Given the description of an element on the screen output the (x, y) to click on. 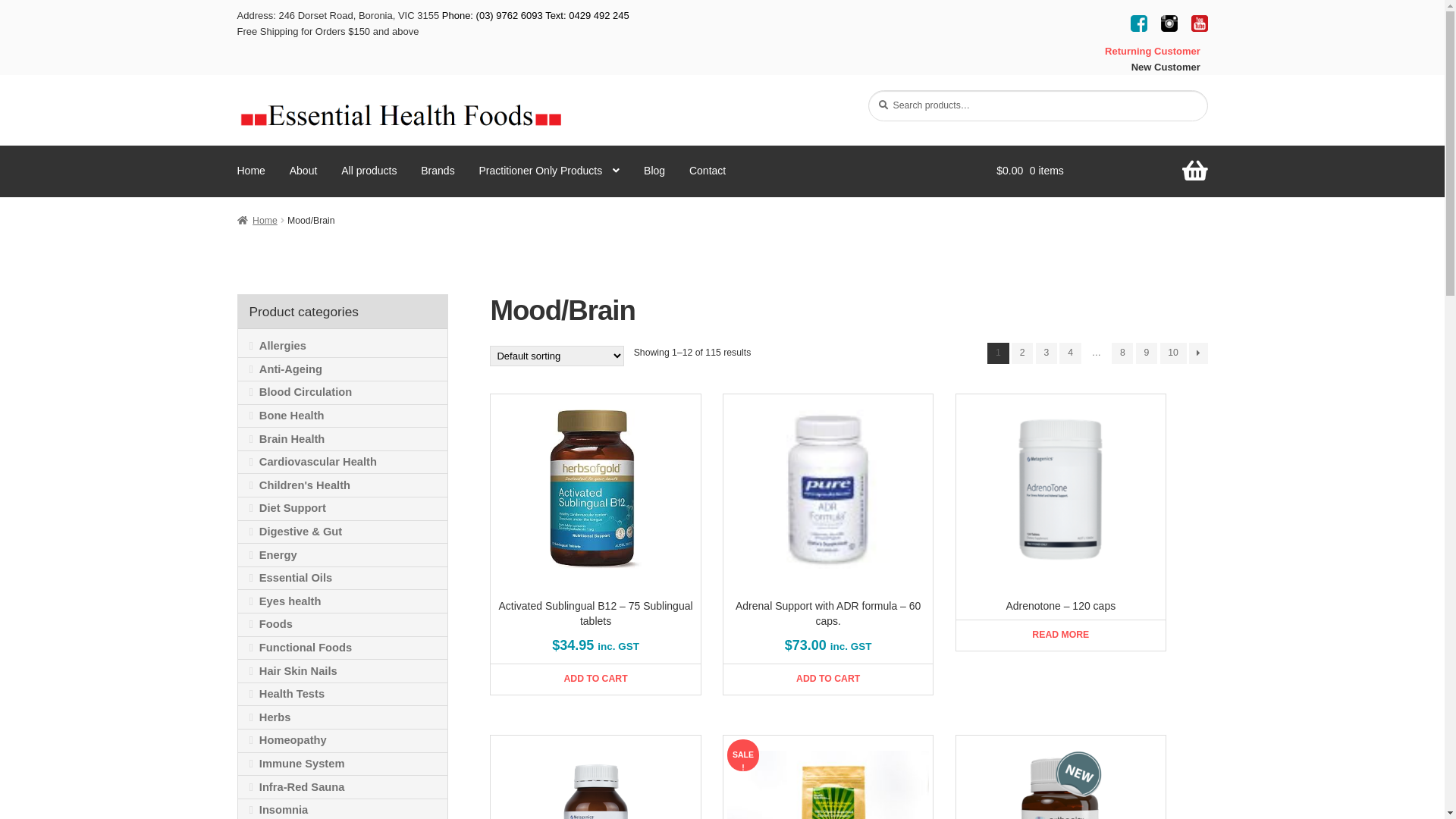
Immune System Element type: text (342, 764)
Foods Element type: text (342, 624)
$0.00 0 items Element type: text (1101, 171)
Allergies Element type: text (342, 346)
All products Element type: text (368, 171)
Homeopathy Element type: text (342, 740)
10 Element type: text (1173, 353)
Blood Circulation Element type: text (342, 392)
Phone: (03) 9762 6093 Element type: text (492, 15)
Skip to navigation Element type: text (236, 89)
Anti-Ageing Element type: text (342, 368)
Contact Element type: text (707, 171)
2 Element type: text (1021, 353)
READ MORE Element type: text (1060, 635)
Diet Support Element type: text (342, 508)
Brands Element type: text (437, 171)
Eyes health Element type: text (342, 600)
Activated Sublingual B12 - 75 Sublingual tablets Element type: hover (400, 113)
Home Element type: text (250, 171)
Infra-Red Sauna Element type: text (342, 786)
Brain Health Element type: text (342, 438)
Returning Customer Element type: text (1136, 50)
Activated Sublingual B12 - 75 Sublingual tablets Element type: hover (595, 488)
Adrenotone - 120 caps Element type: hover (1060, 488)
Cardiovascular Health Element type: text (342, 462)
Search Element type: text (867, 89)
Digestive & Gut Element type: text (342, 531)
ADD TO CART Element type: text (594, 679)
ADD TO CART Element type: text (827, 679)
Blog Element type: text (654, 171)
Bone Health Element type: text (342, 415)
Essential Oils Element type: text (342, 578)
3 Element type: text (1046, 353)
4 Element type: text (1069, 353)
9 Element type: text (1146, 353)
Energy Element type: text (342, 554)
8 Element type: text (1121, 353)
Text: 0429 492 245 Element type: text (585, 15)
New Customer Element type: text (1150, 66)
Herbs Element type: text (342, 717)
Adrenal Support with ADR formula - 60 caps. Element type: hover (827, 488)
Hair Skin Nails Element type: text (342, 670)
Practitioner Only Products Element type: text (549, 171)
Functional Foods Element type: text (342, 648)
Children's Health Element type: text (342, 484)
Health Tests Element type: text (342, 694)
About Element type: text (303, 171)
Home Element type: text (256, 220)
